Given the description of an element on the screen output the (x, y) to click on. 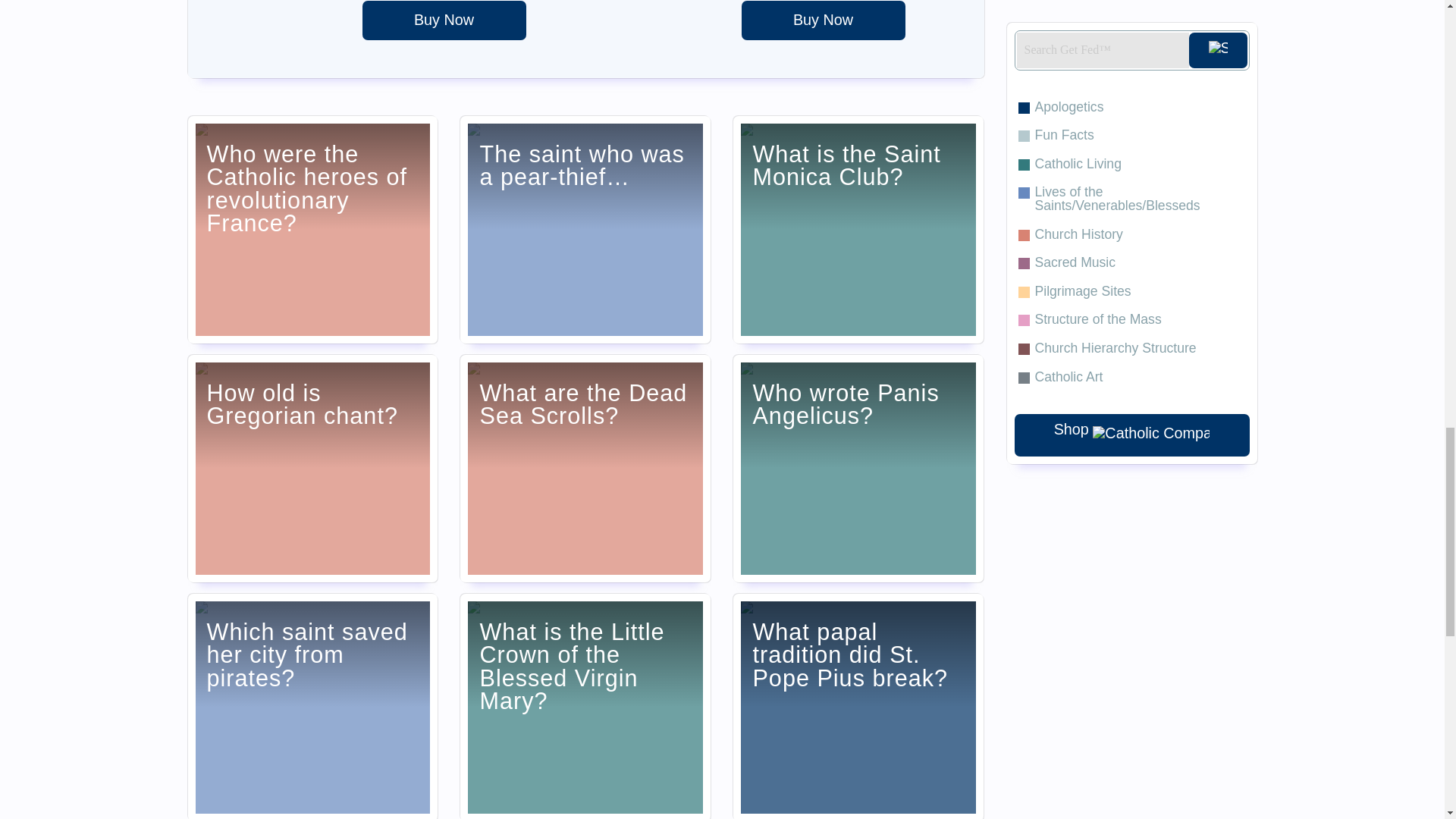
A Catholic Pilgrimage Through American History (443, 20)
Who were the Catholic heroes of revolutionary France? (312, 229)
What is the Little Crown of the Blessed Virgin Mary? (585, 706)
What are the Dead Sea Scrolls? (585, 468)
What papal tradition did St. Pope Pius break? (858, 706)
What is the Saint Monica Club? (858, 229)
Who wrote Panis Angelicus? (858, 468)
Be Strong Glass Water Bottle (823, 20)
Who were the Catholic heroes of revolutionary France? (312, 229)
Buy Now (823, 20)
